Given the description of an element on the screen output the (x, y) to click on. 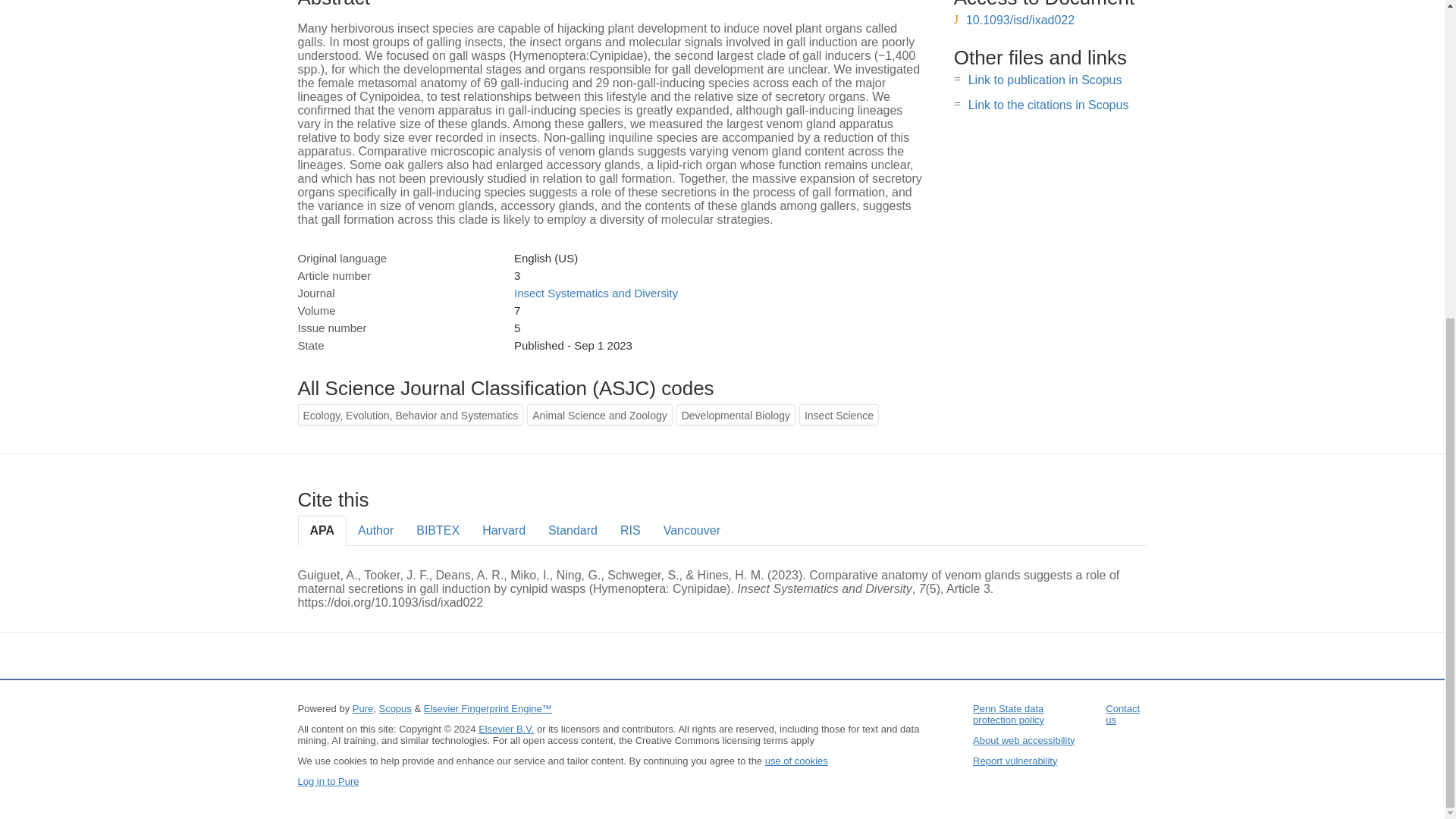
use of cookies (796, 760)
Scopus (394, 708)
Contact us (1122, 713)
Elsevier B.V. (506, 728)
Link to the citations in Scopus (1048, 104)
Pure (362, 708)
Insect Systematics and Diversity (595, 292)
Penn State data protection policy (1007, 713)
Link to publication in Scopus (1045, 79)
Report vulnerability (1014, 760)
